Given the description of an element on the screen output the (x, y) to click on. 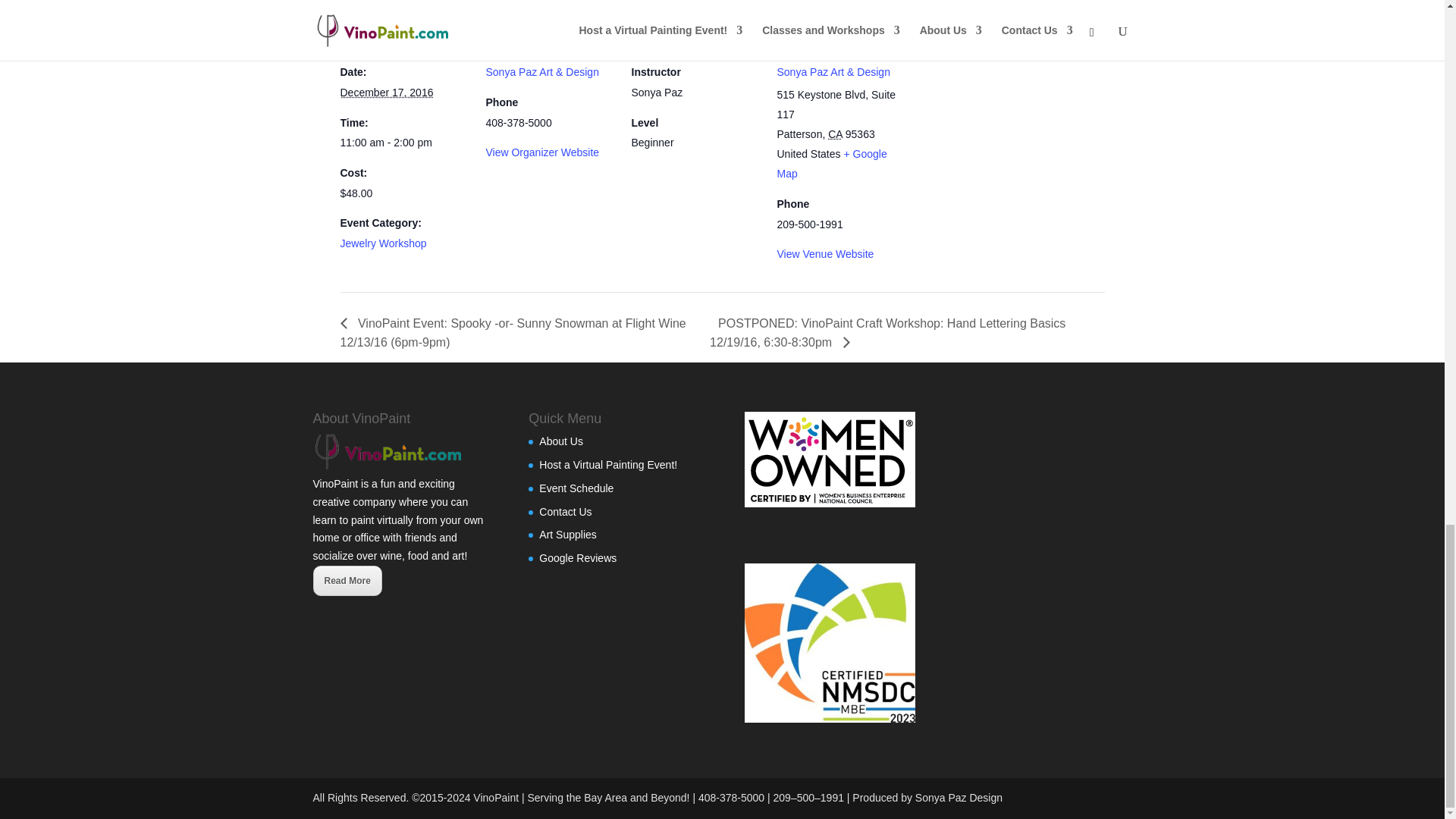
California (835, 133)
Click to view a Google Map (831, 163)
2016-12-17 (385, 92)
2016-12-17 (403, 143)
